Given the description of an element on the screen output the (x, y) to click on. 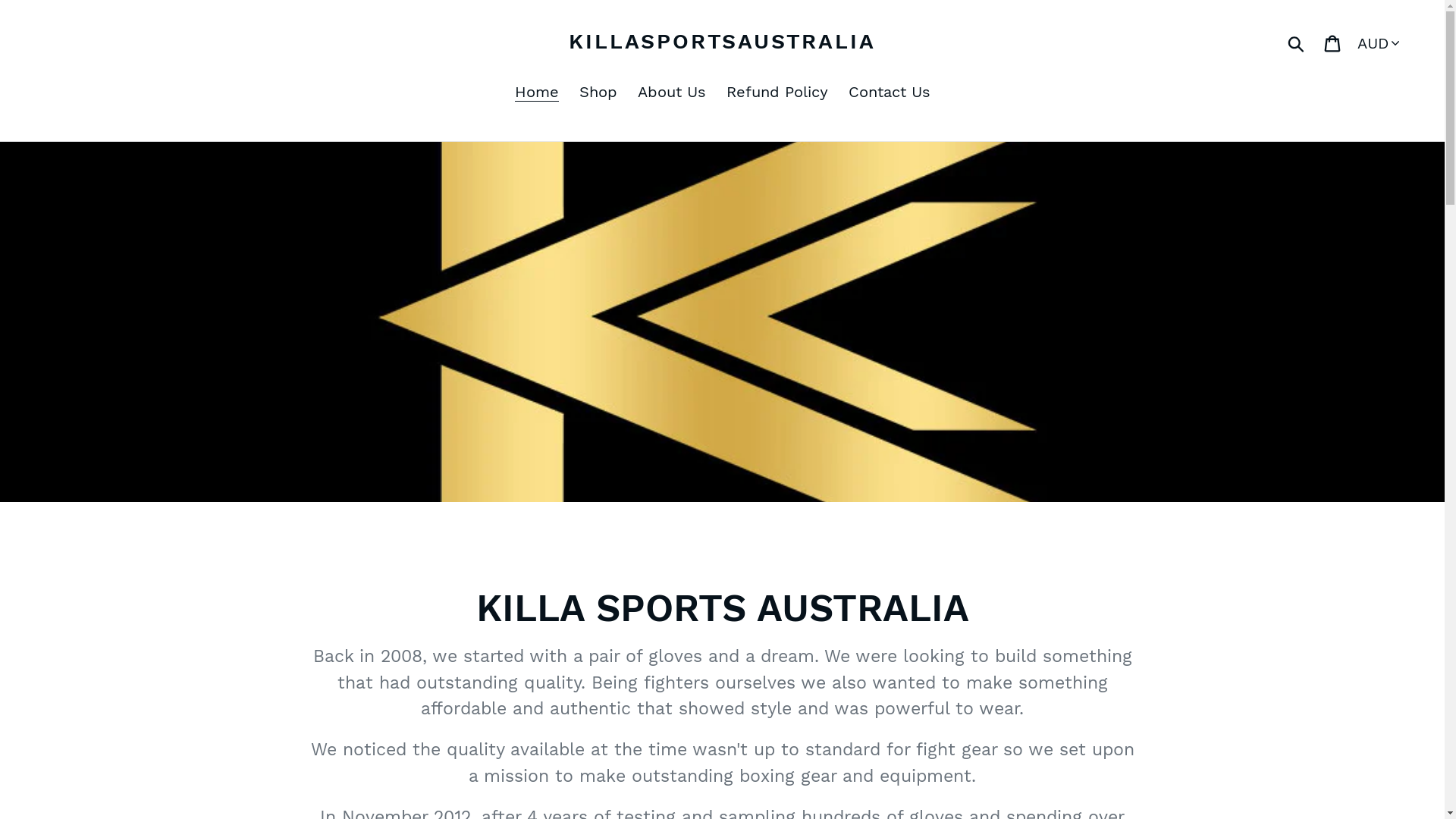
Submit Element type: text (1296, 41)
Cart Element type: text (1333, 41)
Contact Us Element type: text (888, 92)
KILLASPORTSAUSTRALIA Element type: text (721, 41)
Home Element type: text (535, 92)
About Us Element type: text (670, 92)
Refund Policy Element type: text (776, 92)
Shop Element type: text (597, 92)
